Given the description of an element on the screen output the (x, y) to click on. 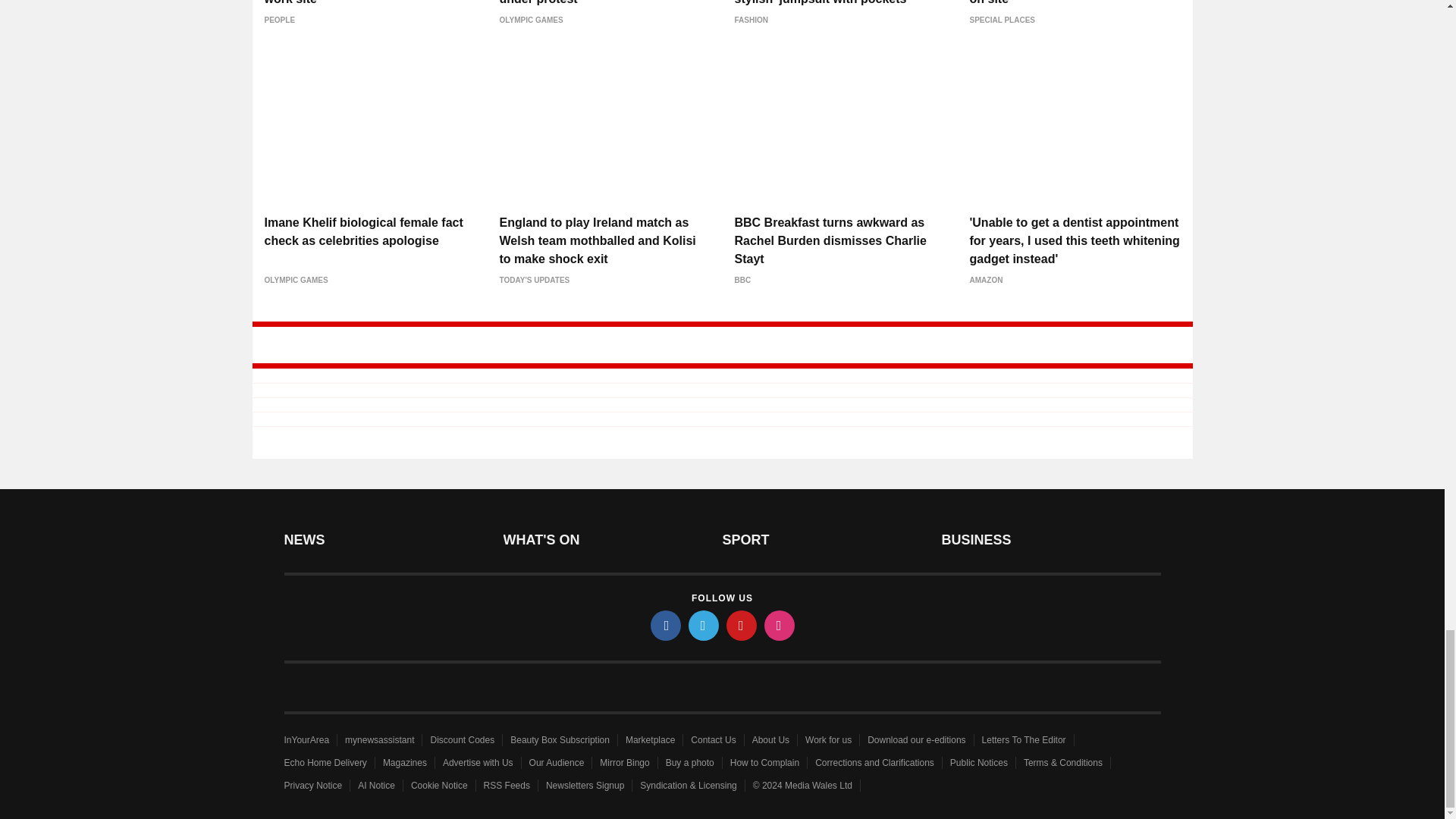
instagram (779, 625)
facebook (665, 625)
pinterest (741, 625)
twitter (703, 625)
